Given the description of an element on the screen output the (x, y) to click on. 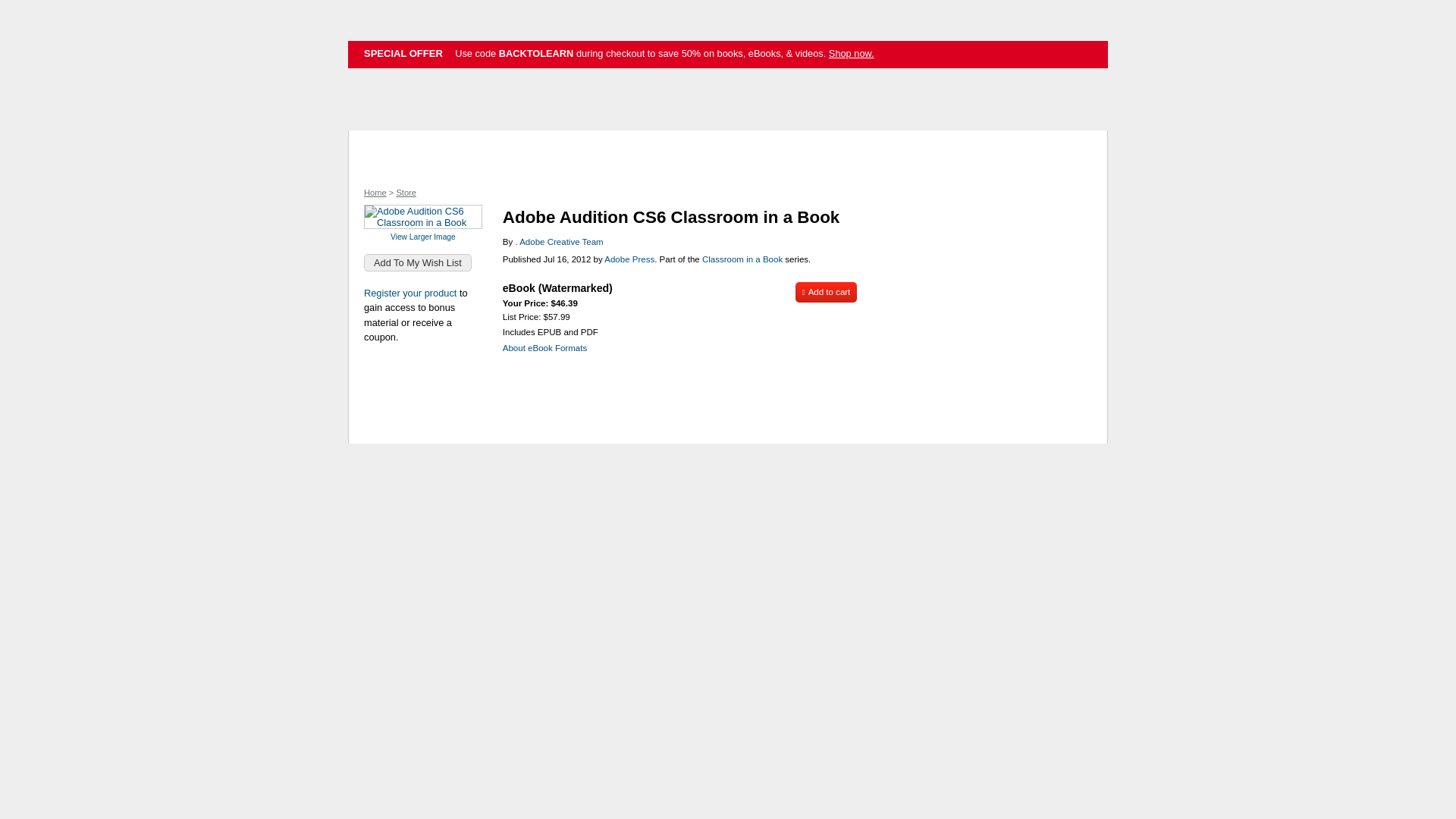
Classroom in a Book (742, 258)
About eBook Formats (544, 347)
View Larger Image (422, 236)
. Adobe Creative Team (558, 241)
Adobe Press (628, 258)
Register your product (410, 292)
Shop now. (851, 52)
Home (375, 192)
Add To My Wish List (417, 262)
Store (406, 192)
